Given the description of an element on the screen output the (x, y) to click on. 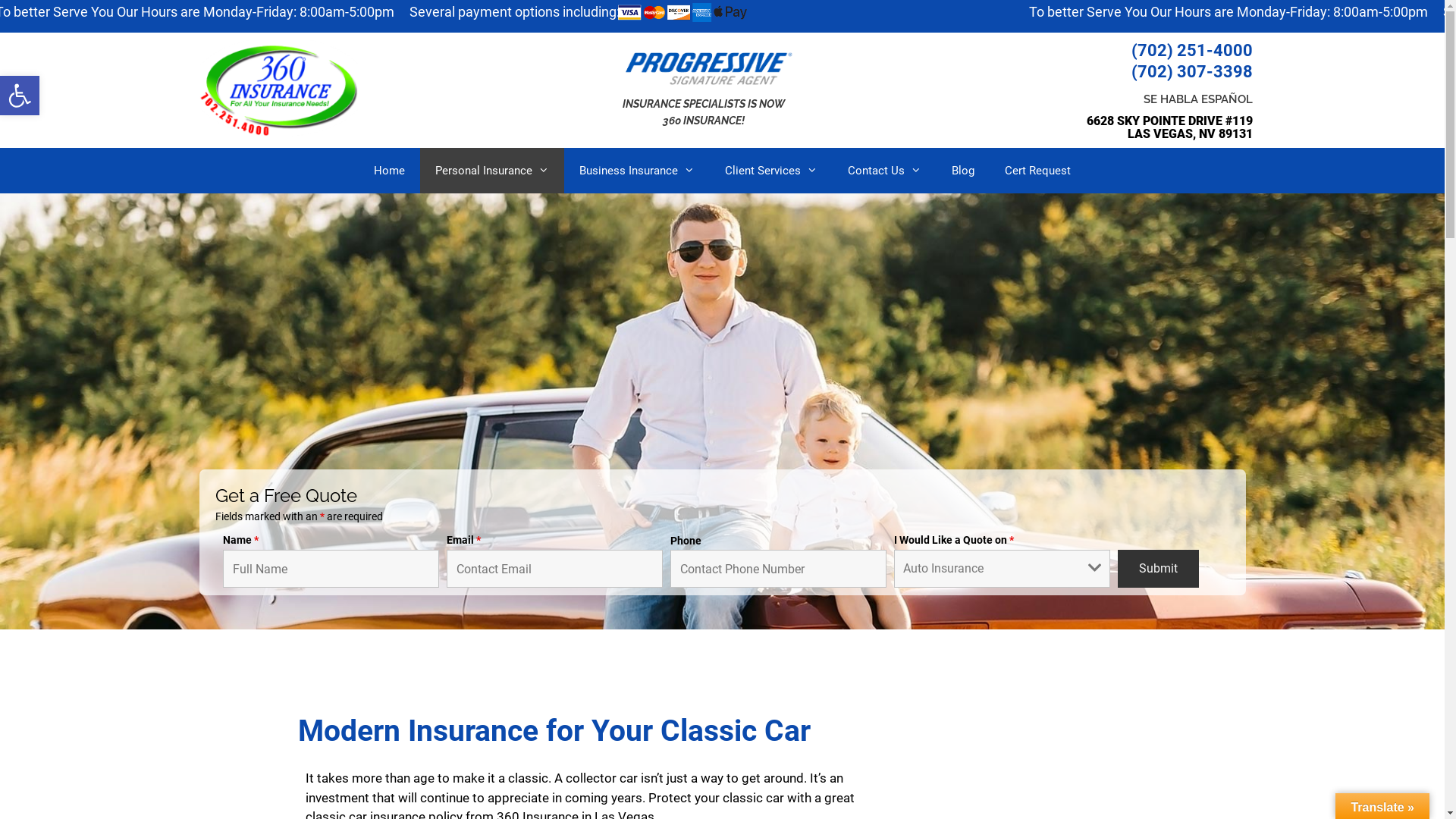
Client Services Element type: text (770, 170)
(702) 251-4000 Element type: text (1191, 49)
360 Insurance Element type: hover (281, 86)
Contact Us Element type: text (884, 170)
360 Insurance Element type: hover (281, 88)
(702) 307-3398 Element type: text (1191, 71)
Cert Request Element type: text (1037, 170)
Home Element type: text (389, 170)
Open toolbar
Accessibility Tools Element type: text (19, 95)
Business Insurance Element type: text (636, 170)
6628 SKY POINTE DRIVE #119
LAS VEGAS, NV 89131 Element type: text (1168, 127)
Personal Insurance Element type: text (492, 170)
Blog Element type: text (962, 170)
